Given the description of an element on the screen output the (x, y) to click on. 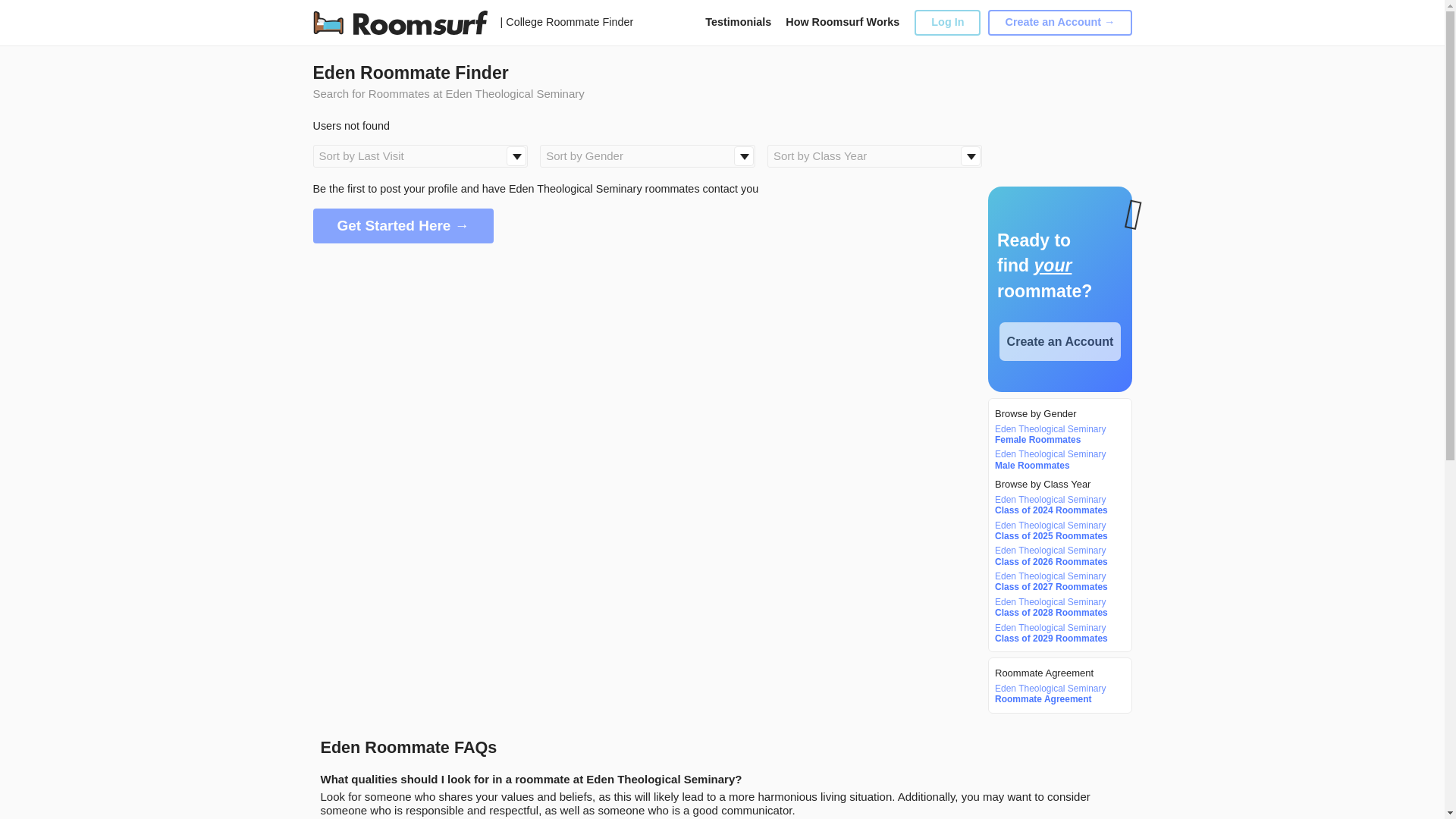
Eden Theological Seminary Male Roommates (1057, 460)
Eden Theological Seminary Female Roommates (1057, 434)
Eden Theological Seminary Class of 2028 Roommates (1057, 608)
Eden Theological Seminary Roommate Agreement (1057, 694)
Eden Theological Seminary Class of 2024 Roommates (1057, 505)
Testimonials (737, 21)
Eden Theological Seminary Class of 2026 Roommates (1057, 557)
Eden Theological Seminary Class of 2027 Roommates (1057, 581)
Eden Theological Seminary Class of 2025 Roommates (1057, 531)
Create an Account (1059, 341)
Log In (946, 22)
Eden Theological Seminary Class of 2029 Roommates (1057, 633)
How Roomsurf Works (842, 21)
